Given the description of an element on the screen output the (x, y) to click on. 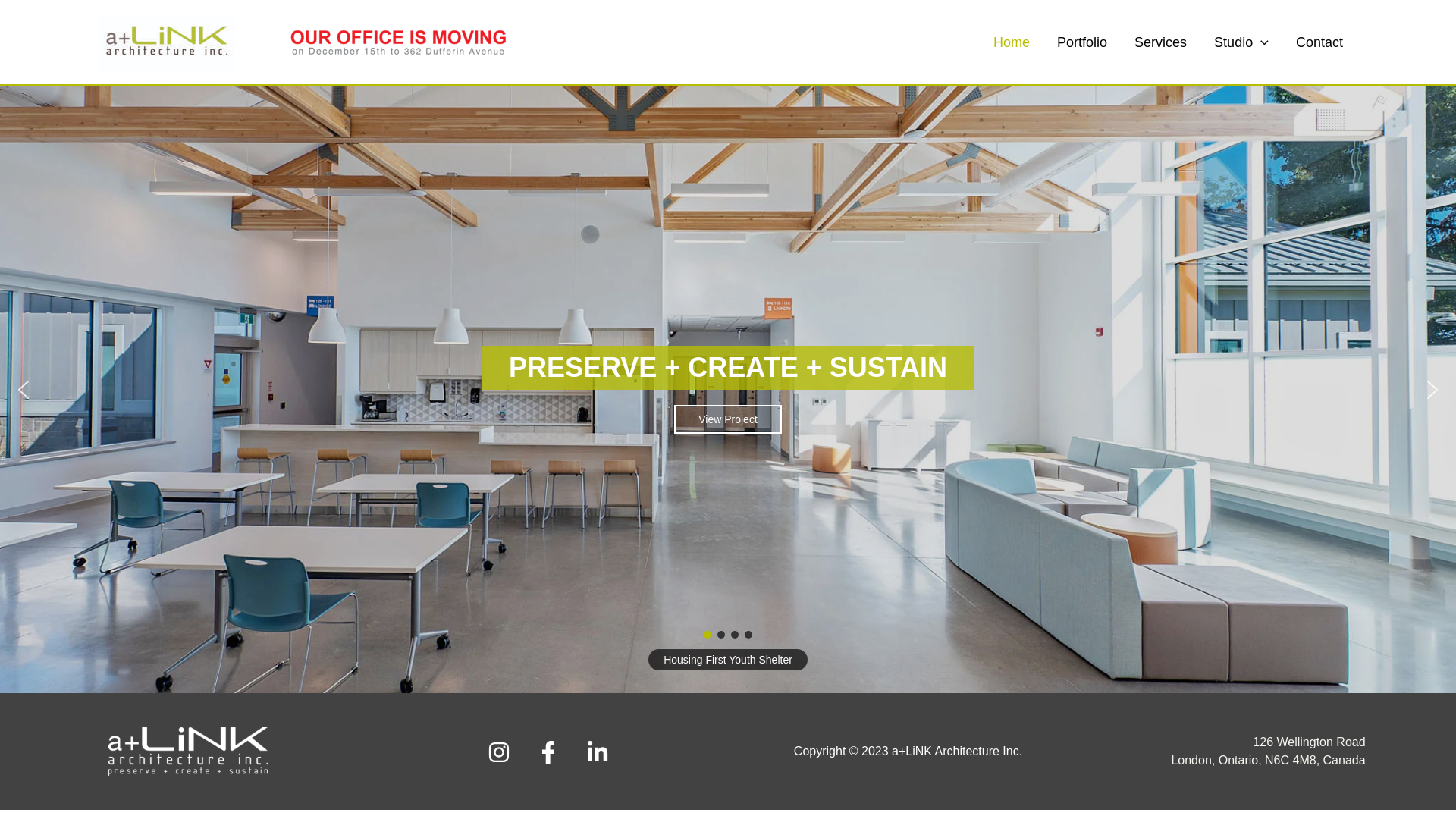
Services Element type: text (1160, 41)
View Project Element type: text (727, 418)
Studio Element type: text (1241, 41)
Contact Element type: text (1319, 41)
Home Element type: text (1011, 41)
Portfolio Element type: text (1081, 41)
